Given the description of an element on the screen output the (x, y) to click on. 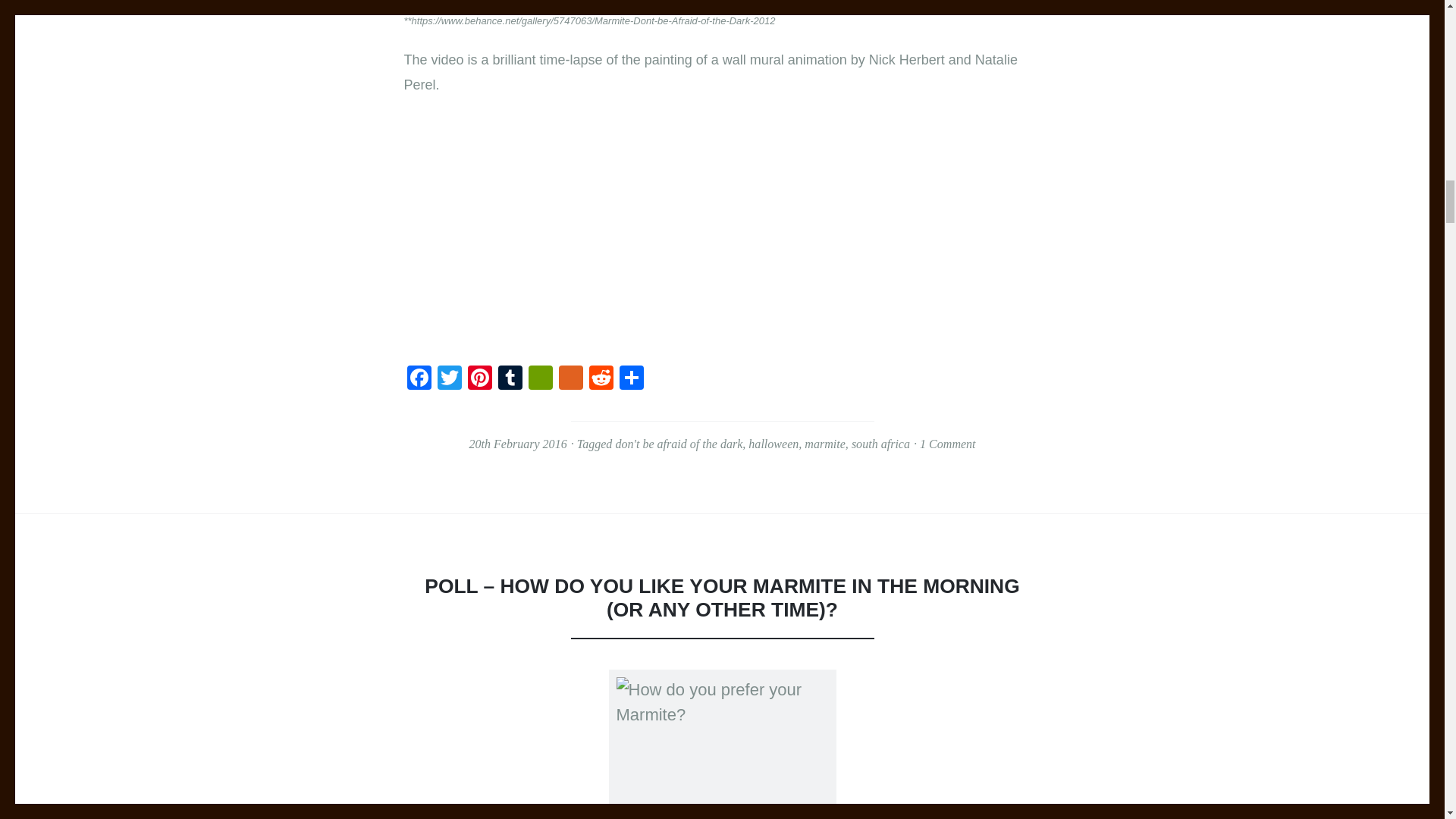
Yummly (569, 379)
Reddit (600, 379)
Facebook (418, 379)
Twitter (448, 379)
PrintFriendly (539, 379)
Pinterest (479, 379)
Tumblr (509, 379)
